Given the description of an element on the screen output the (x, y) to click on. 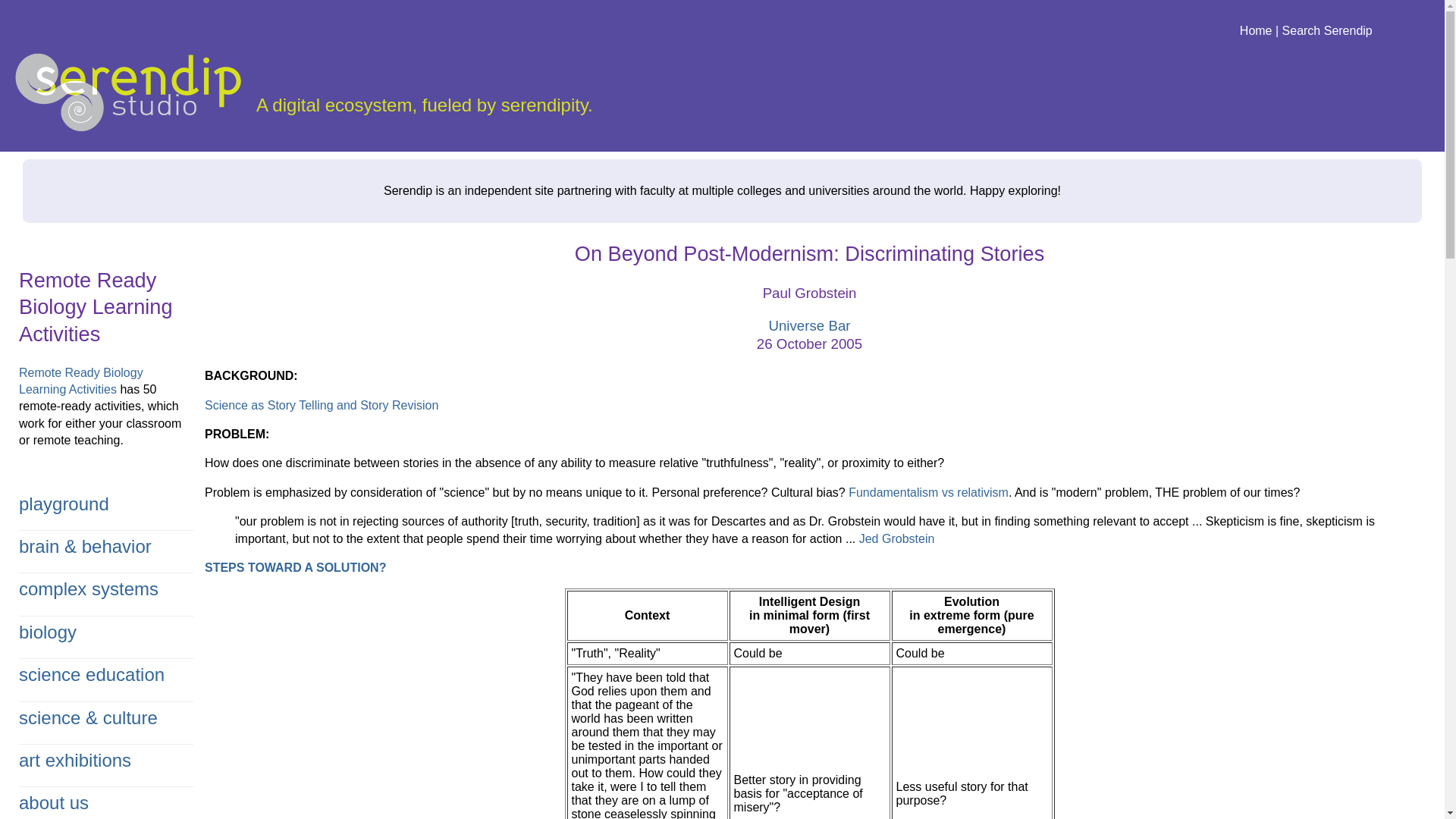
Science as Story Telling and Story Revision (321, 404)
Home (127, 92)
Home (1256, 30)
STEPS TOWARD A SOLUTION? (295, 567)
Search Serendip (1327, 30)
complex systems (88, 588)
biology (47, 631)
about us (53, 802)
art exhibitions (74, 760)
Jed Grobstein (896, 538)
